Given the description of an element on the screen output the (x, y) to click on. 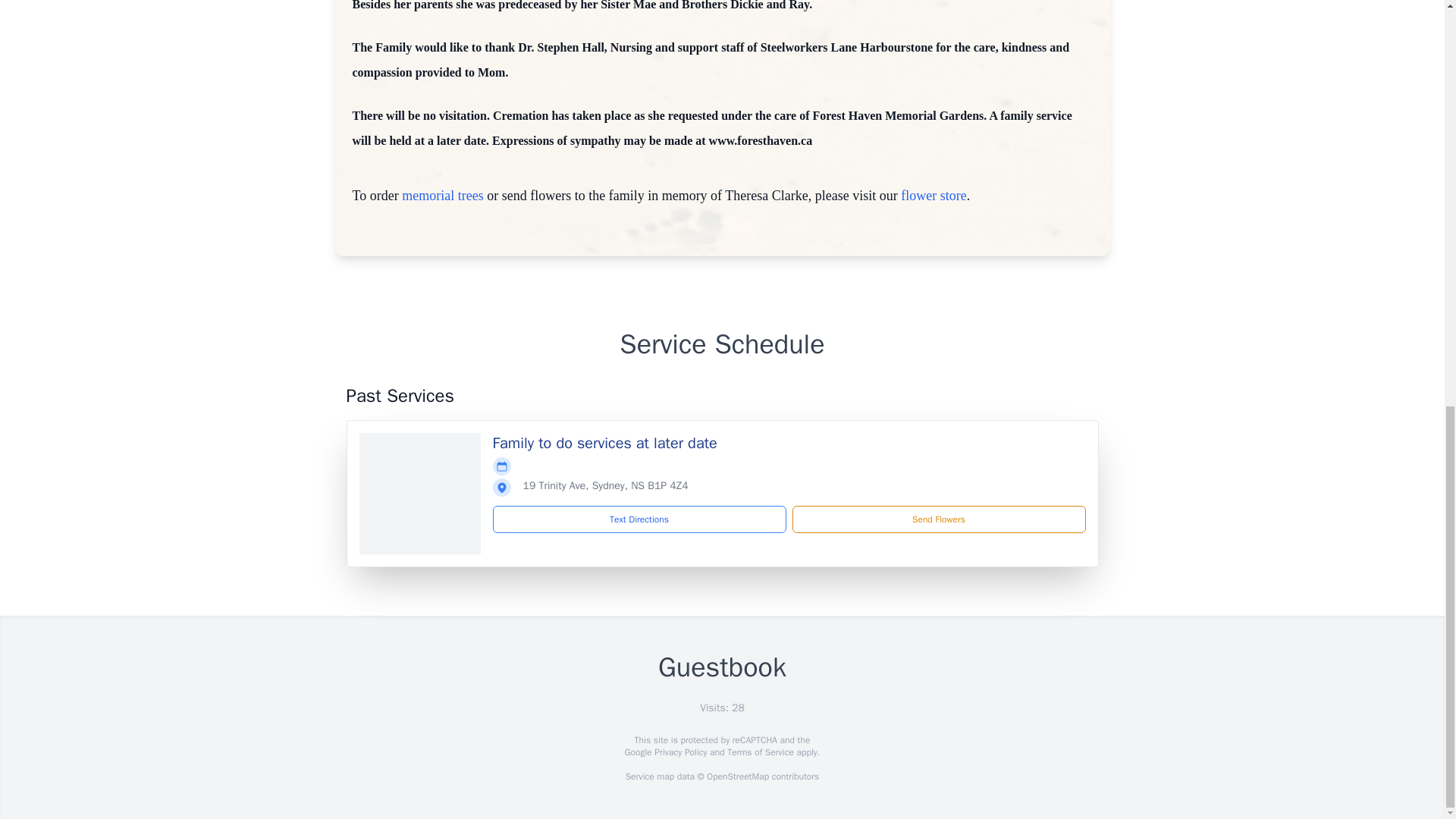
Privacy Policy (679, 752)
flower store (933, 195)
memorial trees (442, 195)
Text Directions (639, 519)
Terms of Service (759, 752)
OpenStreetMap (737, 776)
Send Flowers (938, 519)
19 Trinity Ave, Sydney, NS B1P 4Z4 (605, 485)
